Given the description of an element on the screen output the (x, y) to click on. 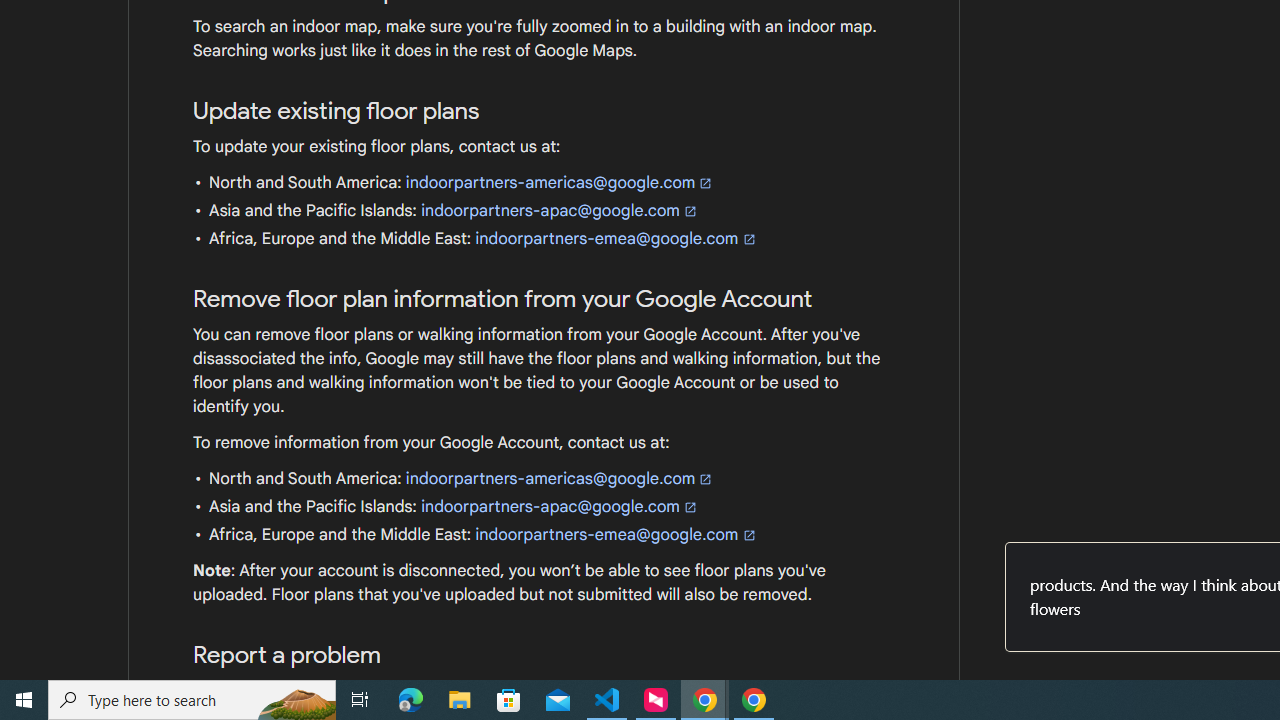
indoorpartners-emea@google.com (616, 534)
indoorpartners-americas@google.com (559, 478)
indoorpartners-apac@google.com (560, 506)
